Given the description of an element on the screen output the (x, y) to click on. 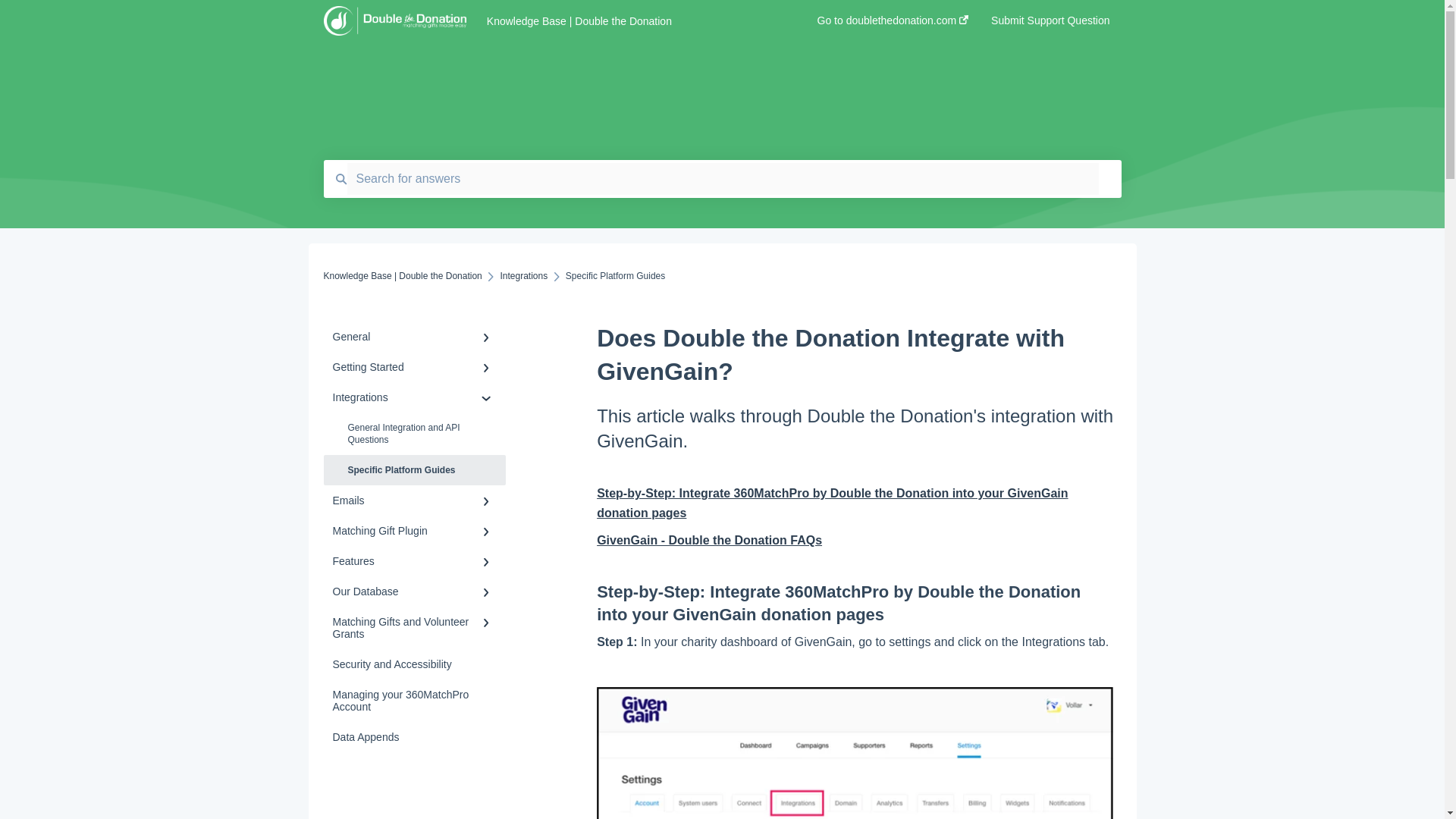
Go to doublethedonation.com (892, 25)
Submit Support Question (1050, 25)
